Given the description of an element on the screen output the (x, y) to click on. 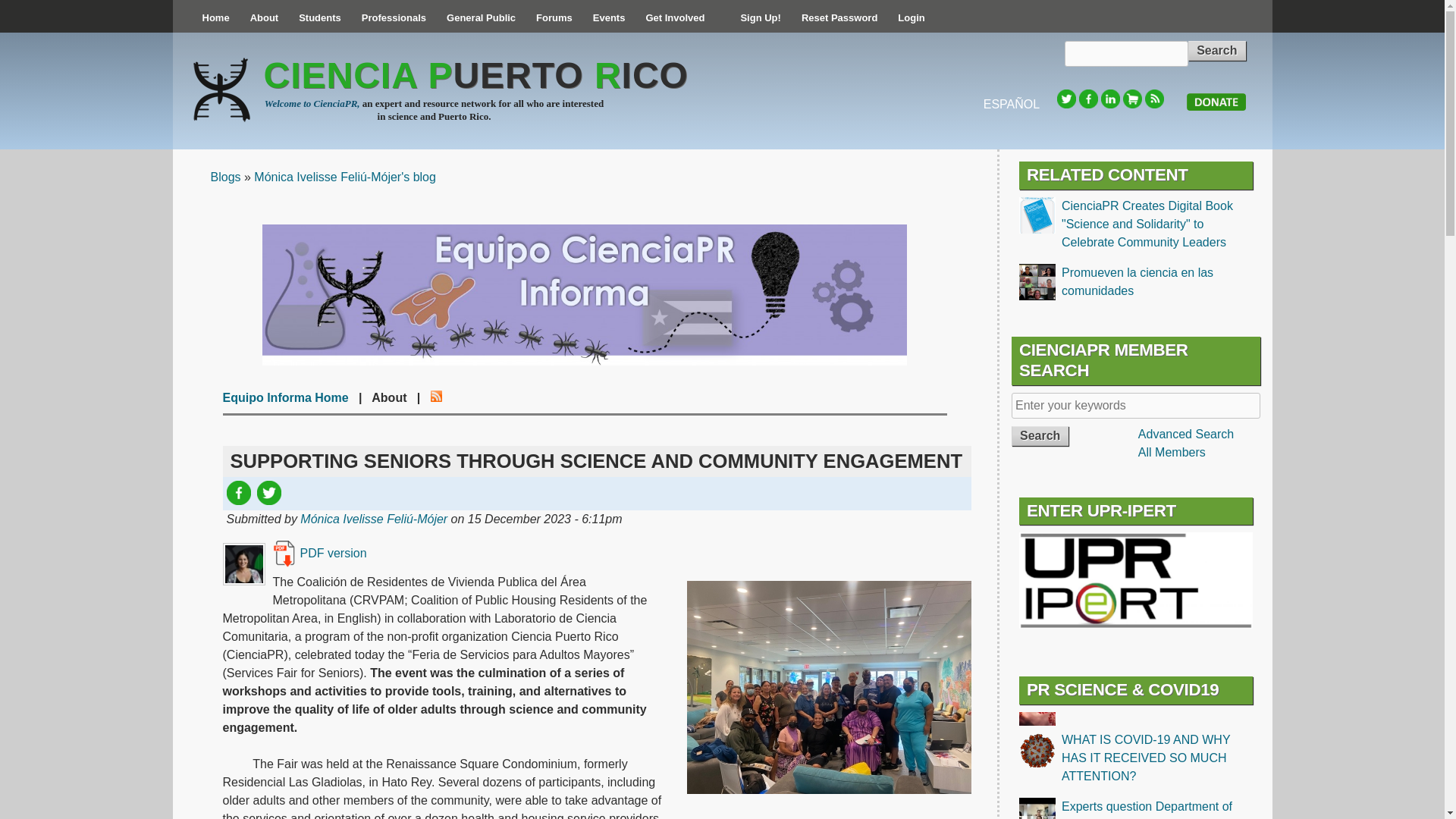
About (264, 18)
Scientific information of interest to all (480, 18)
Forums (553, 18)
Get Involved (674, 18)
Search (1216, 50)
Students (319, 18)
Search (1039, 435)
Events (608, 18)
CienciaPR homepage (216, 18)
Sign Up! (760, 18)
Search (1216, 50)
CIENCIA PUERTO RICO (475, 75)
General Public (480, 18)
Professionals (393, 18)
